Given the description of an element on the screen output the (x, y) to click on. 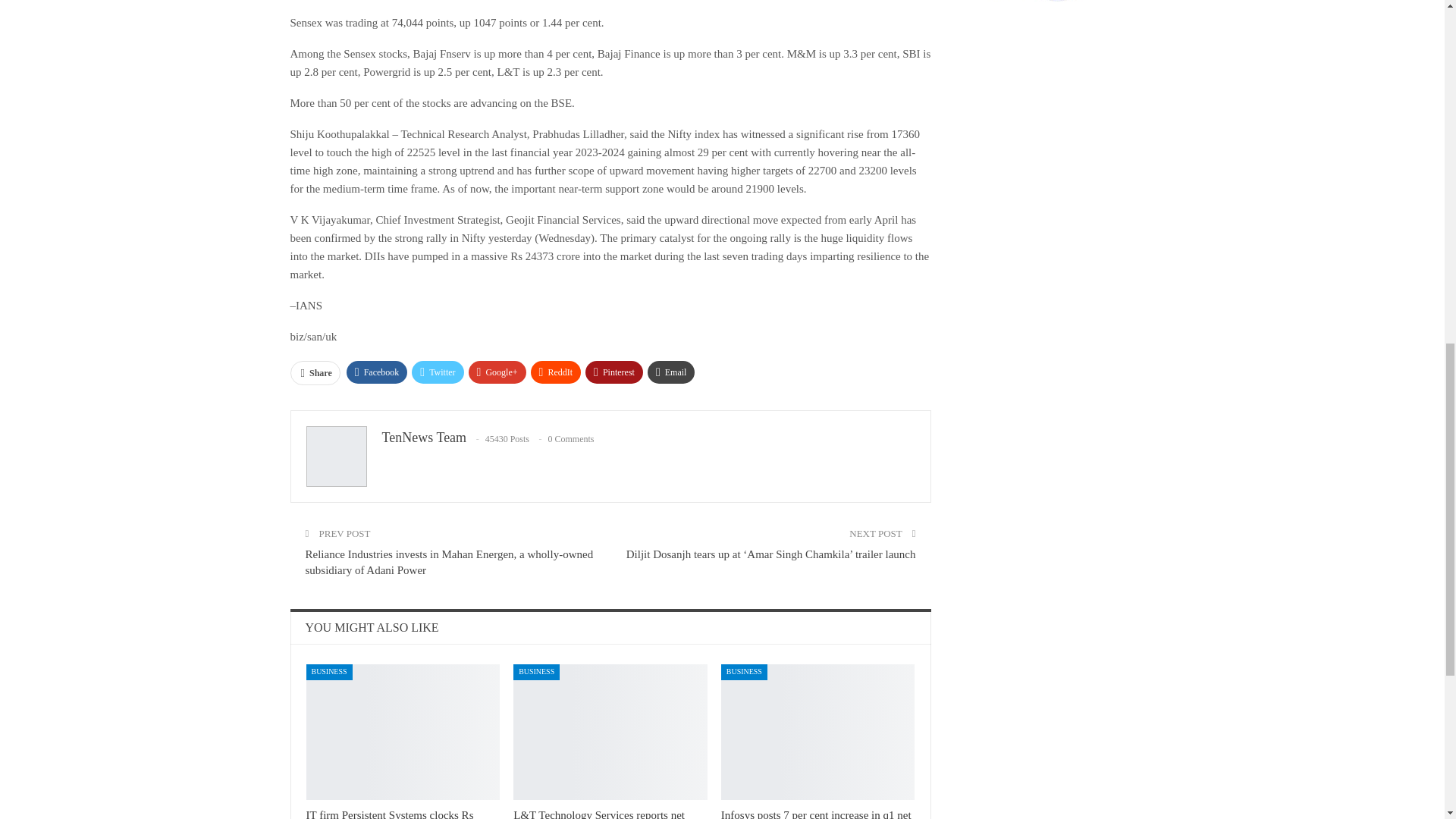
ReddIt (555, 372)
Twitter (437, 372)
Facebook (376, 372)
